Given the description of an element on the screen output the (x, y) to click on. 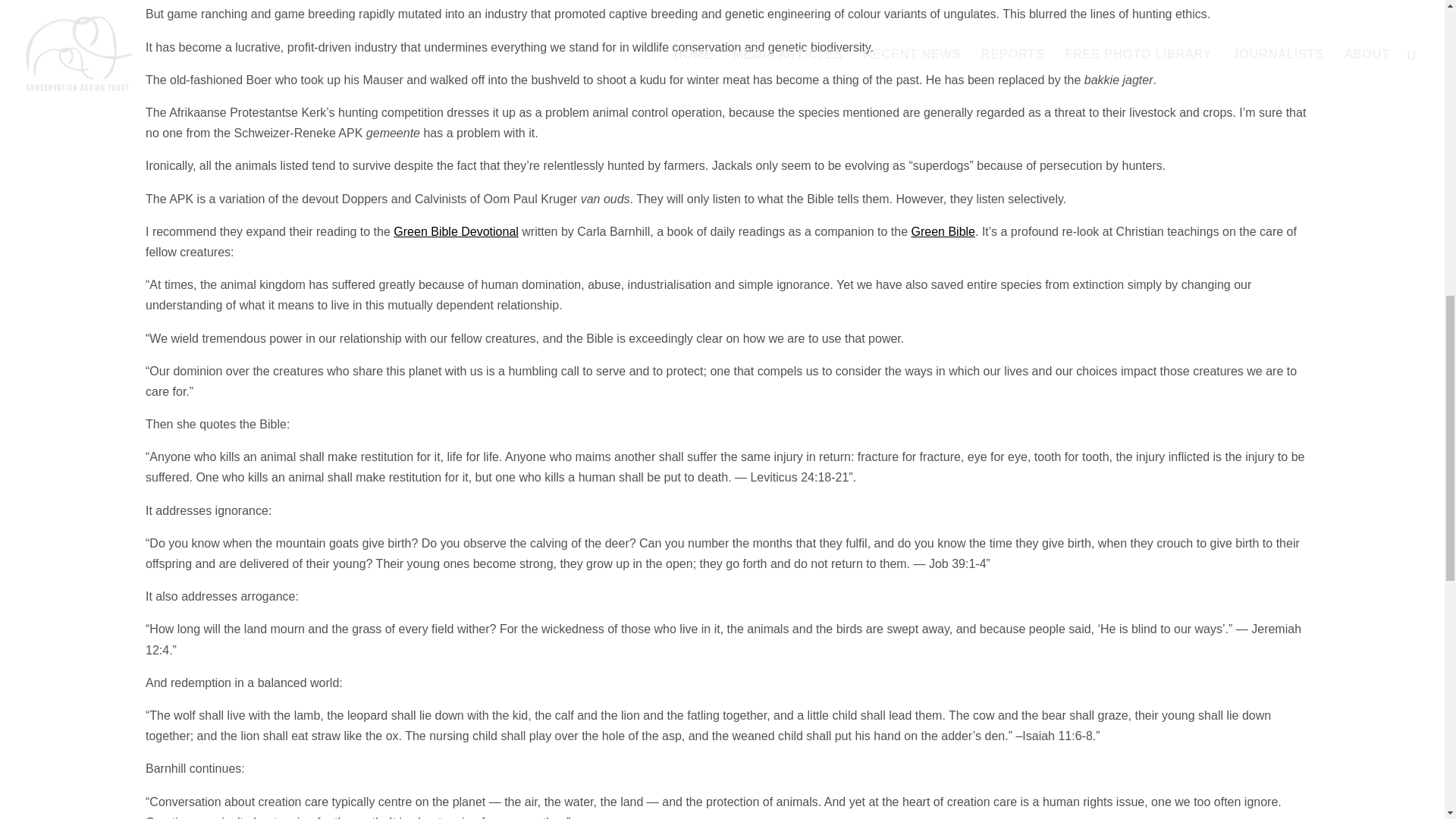
Green Bible Devotional (455, 231)
Green Bible (943, 231)
